Given the description of an element on the screen output the (x, y) to click on. 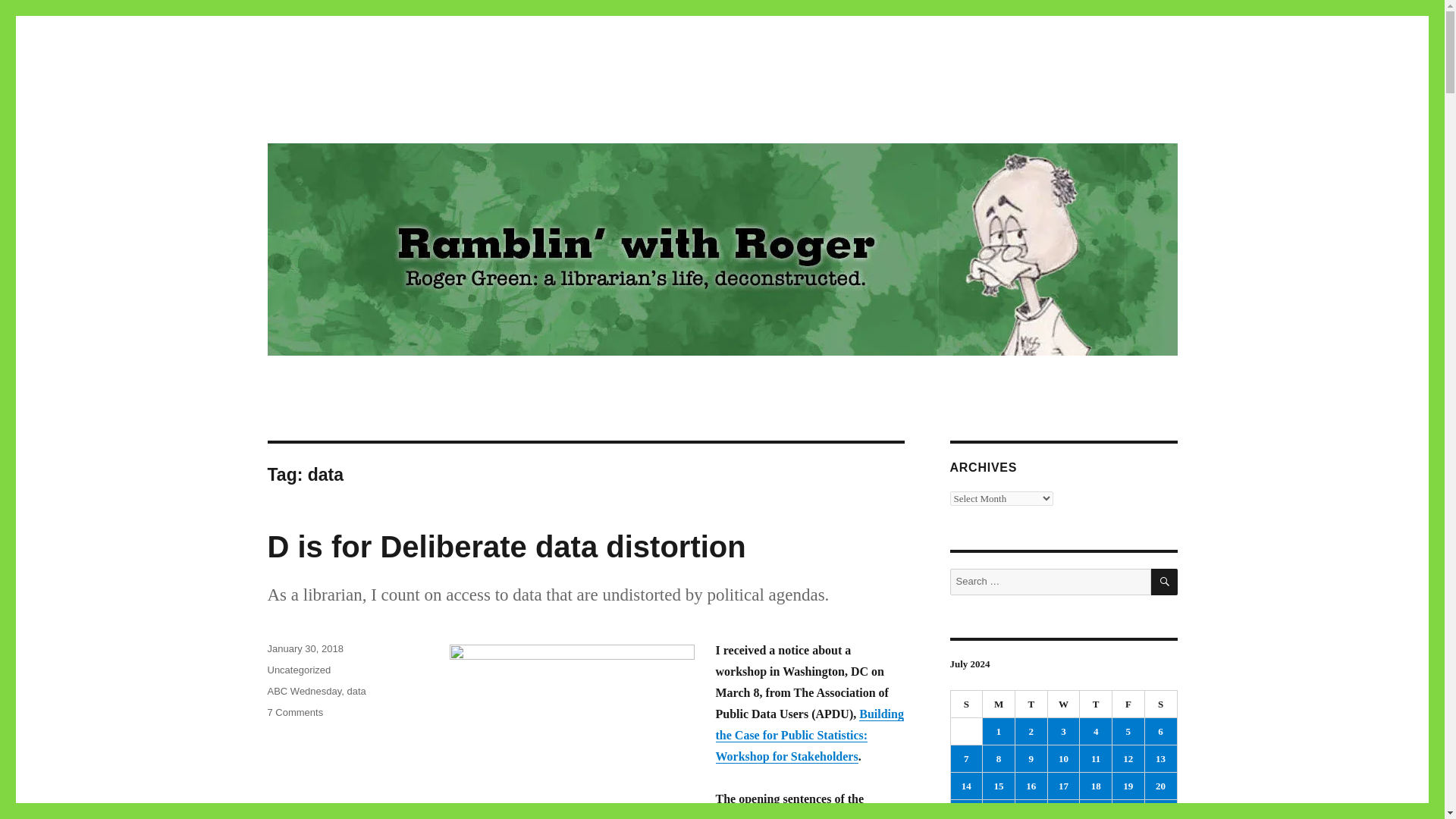
D is for Deliberate data distortion (505, 546)
Sunday (967, 704)
Tuesday (1031, 704)
Uncategorized (294, 712)
Saturday (298, 669)
Monday (1160, 704)
ABC Wednesday (998, 704)
Ramblin' with Roger (303, 690)
Thursday (368, 114)
data (1096, 704)
January 30, 2018 (356, 690)
Wednesday (304, 648)
Friday (1064, 704)
